Given the description of an element on the screen output the (x, y) to click on. 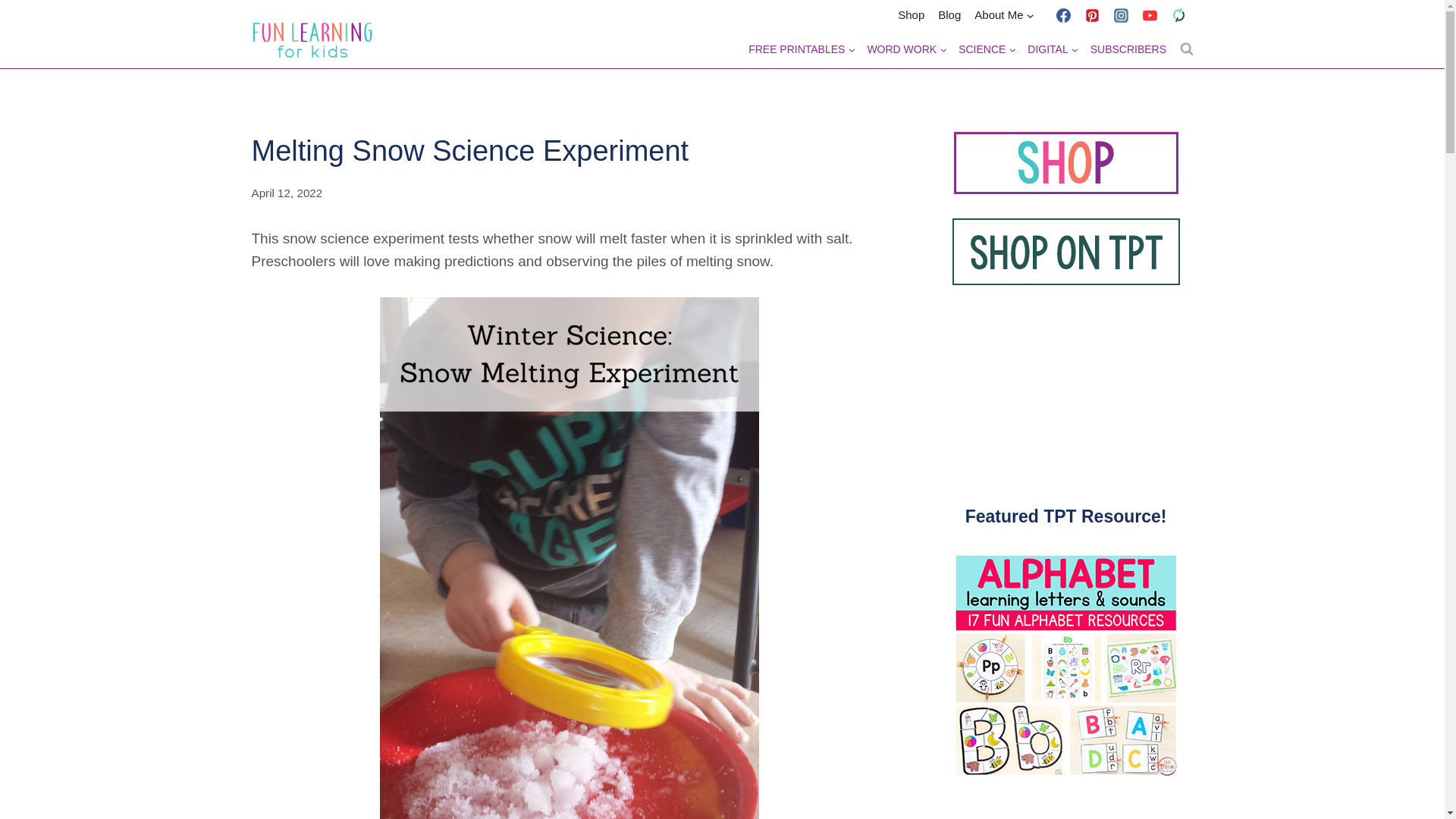
WORD WORK (907, 49)
About Me (1004, 15)
SCIENCE (987, 49)
SUBSCRIBERS (1128, 49)
Blog (949, 15)
DIGITAL (1053, 49)
Shop (911, 15)
FREE PRINTABLES (801, 49)
